Given the description of an element on the screen output the (x, y) to click on. 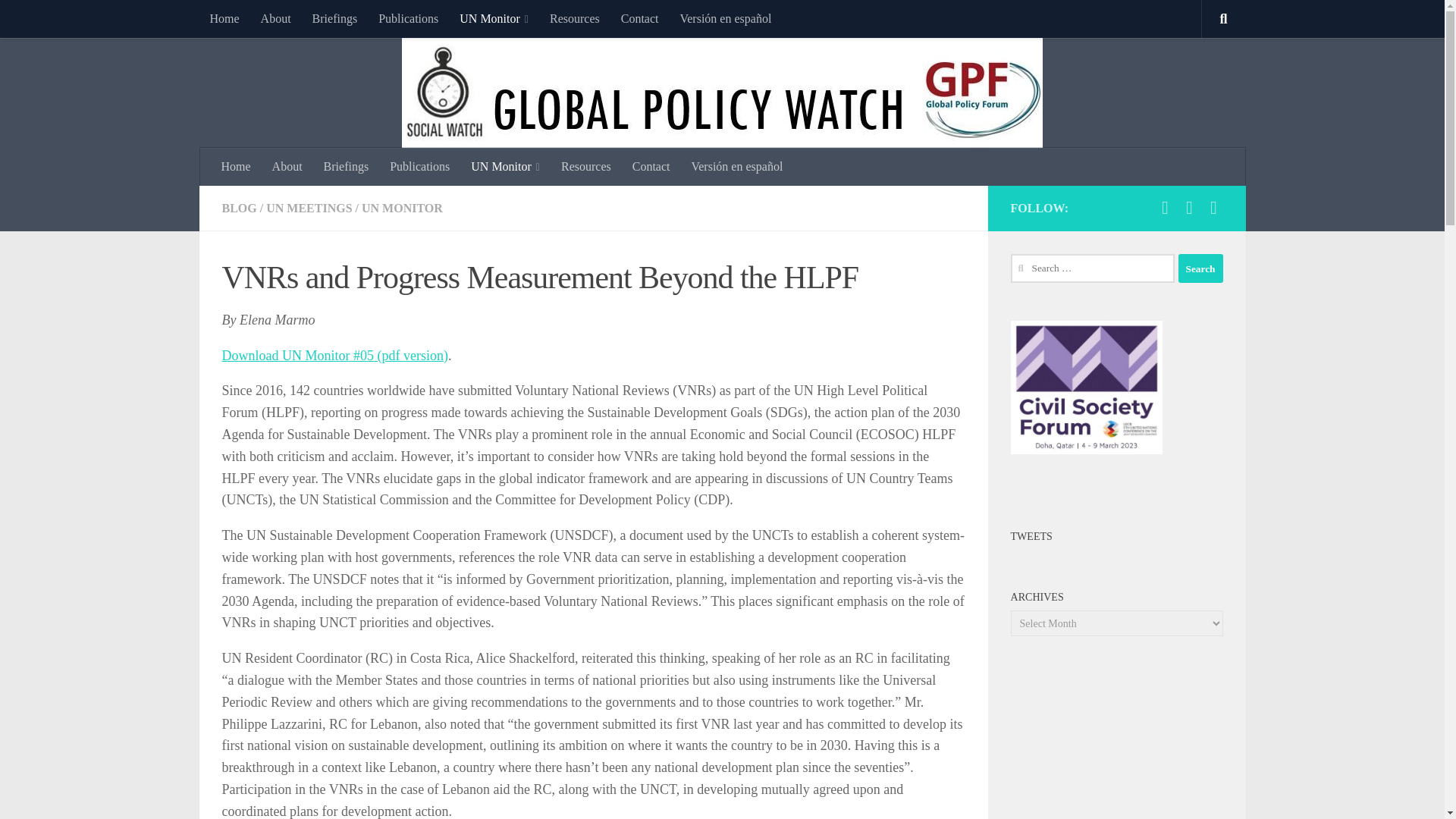
Contact (651, 166)
UN Monitor (505, 166)
rss (1213, 208)
Contact (639, 18)
BLOG (238, 207)
UN MONITOR (401, 207)
Home (223, 18)
Publications (419, 166)
Briefings (334, 18)
UN Monitor (493, 18)
